Given the description of an element on the screen output the (x, y) to click on. 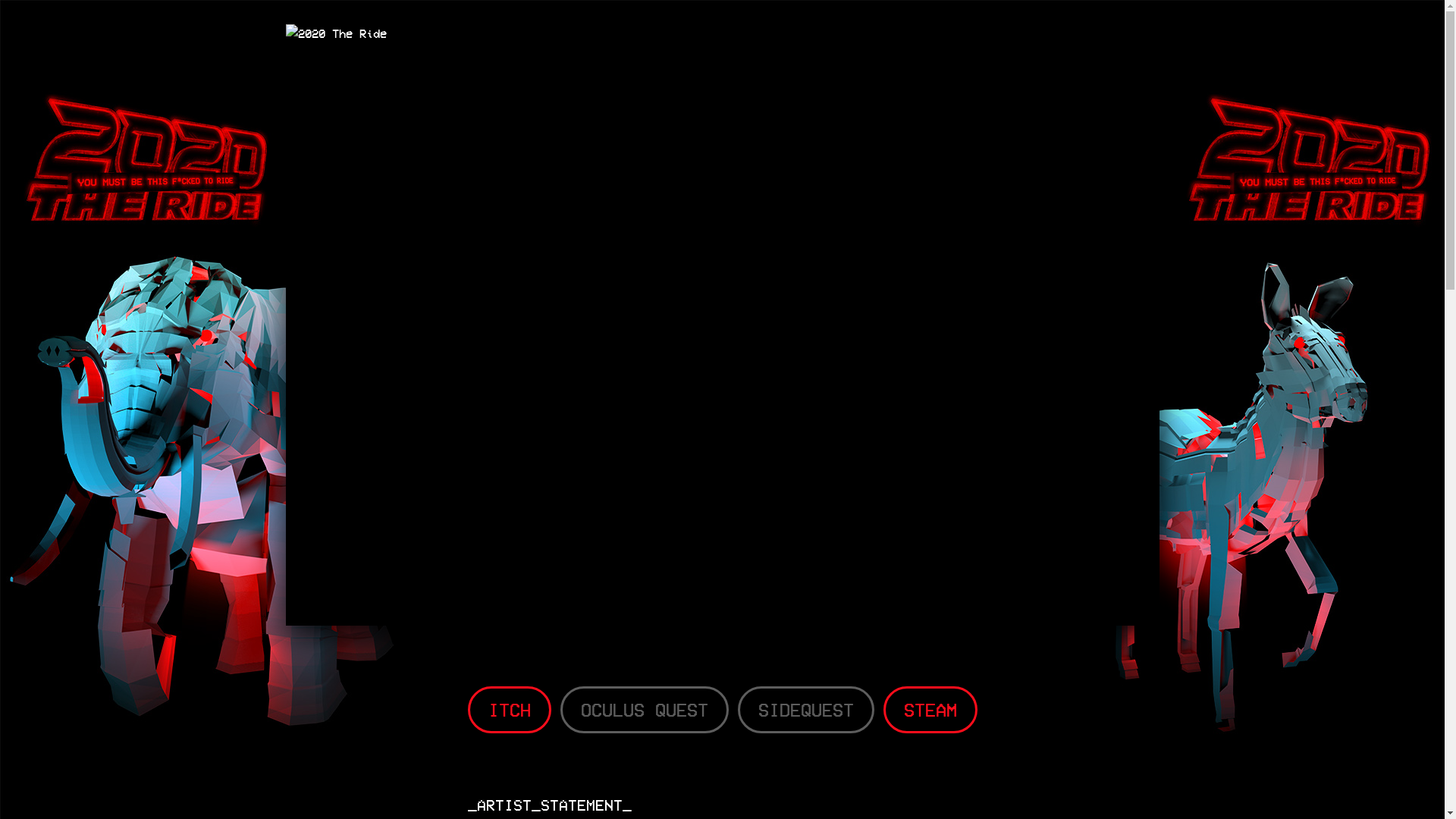
STEAM Element type: text (929, 708)
YouTube video player Element type: hover (721, 378)
ITCH Element type: text (508, 708)
